Given the description of an element on the screen output the (x, y) to click on. 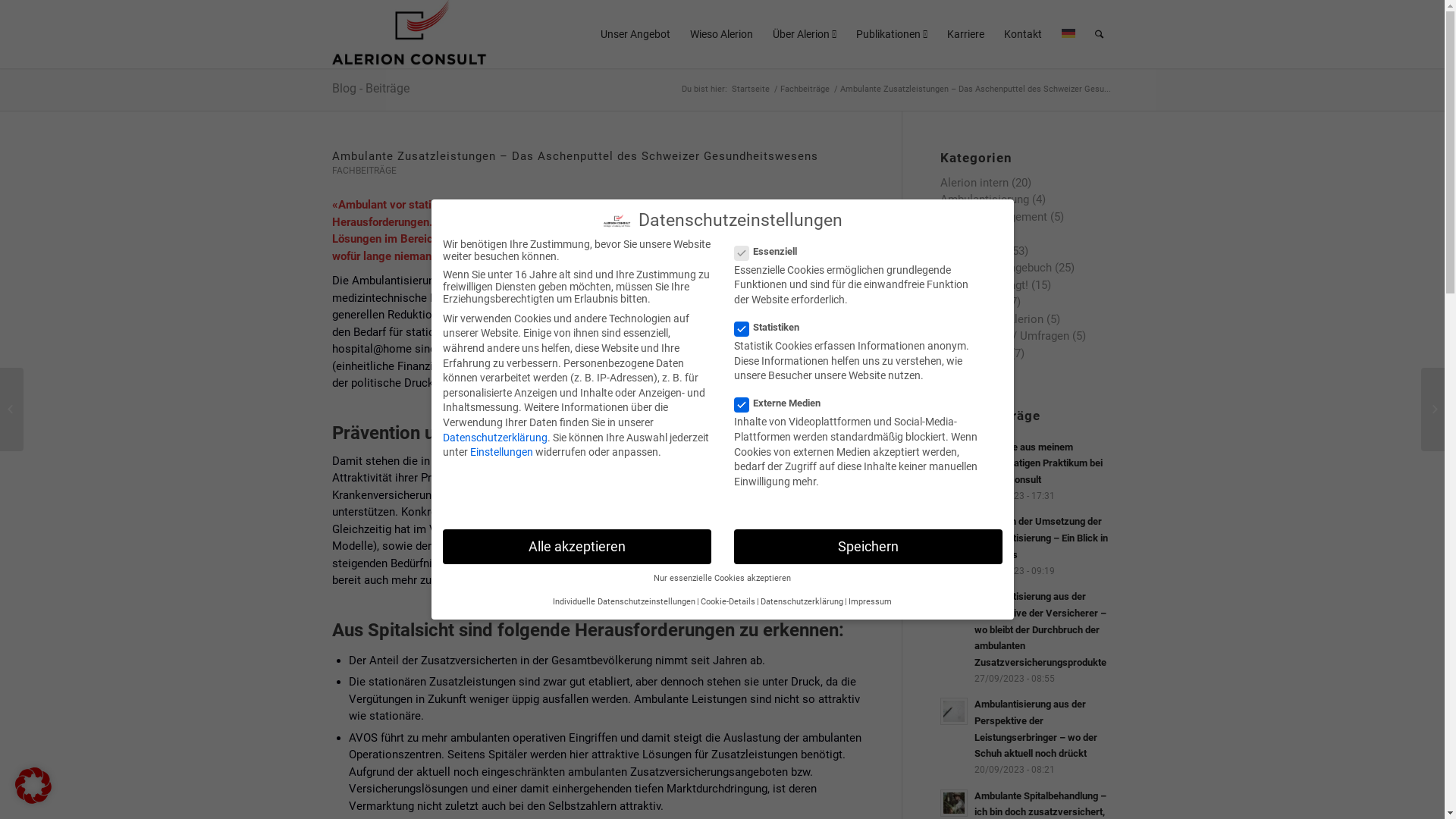
EFAS-Vorlage Element type: text (822, 348)
Karriere Element type: text (965, 34)
Kurz nachgefragt! Element type: text (984, 284)
Nur essenzielle Cookies akzeptieren Element type: text (721, 578)
Individuelle Datenschutzeinstellungen Element type: text (623, 601)
Cookie-Details Element type: text (727, 601)
Homeoffice Tagebuch Element type: text (995, 267)
Events Element type: text (957, 233)
Startseite Element type: text (750, 88)
Kontakt Element type: text (1022, 34)
Publikationen / Umfragen Element type: text (1004, 335)
Projekte von Alerion Element type: text (991, 319)
Unser Angebot Element type: text (634, 34)
Einstellungen Element type: text (501, 451)
Publikationen Element type: text (891, 34)
Alle akzeptieren Element type: text (576, 546)
Wieso Alerion Element type: text (720, 34)
Speichern Element type: text (868, 546)
Impressum Element type: text (869, 601)
Ambulantisierung Element type: text (984, 199)
Alerion intern Element type: text (974, 182)
Umfrage Element type: text (776, 477)
Change Management Element type: text (993, 216)
Unternehmen Element type: text (973, 353)
